Given the description of an element on the screen output the (x, y) to click on. 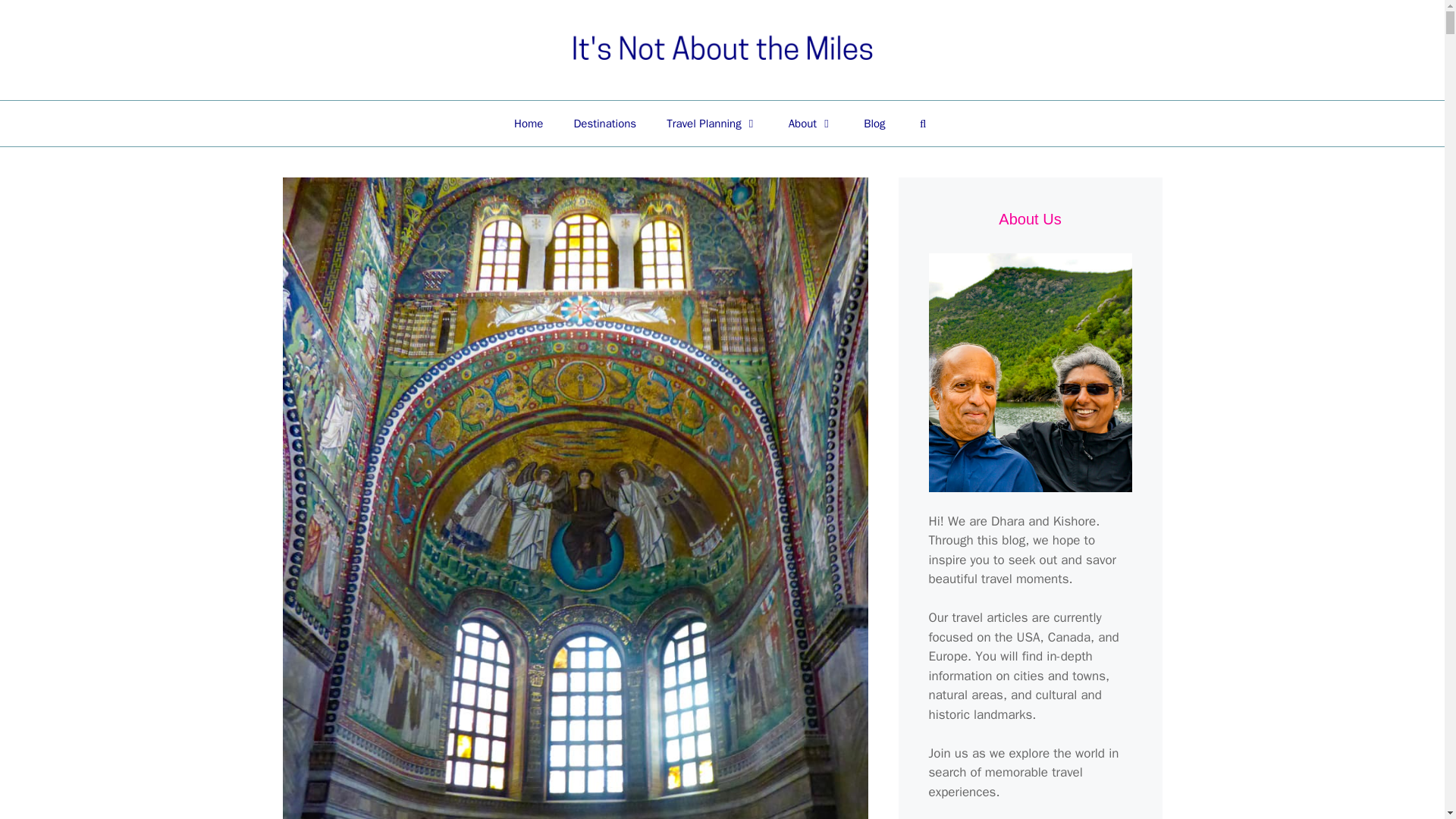
Destinations (603, 123)
Blog (873, 123)
About (810, 123)
Travel Planning (711, 123)
Home (528, 123)
